Given the description of an element on the screen output the (x, y) to click on. 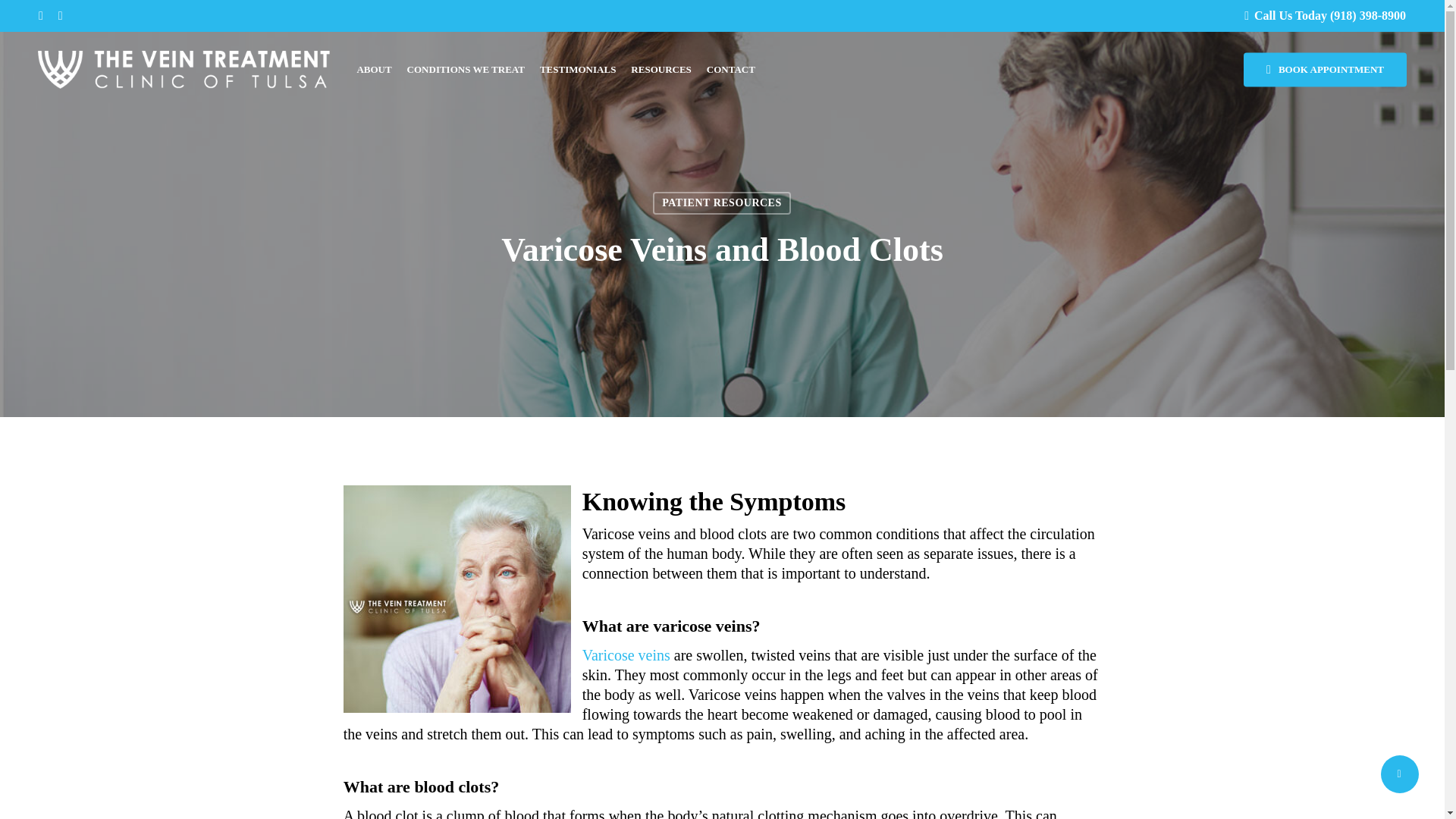
CONDITIONS WE TREAT (465, 69)
PATIENT RESOURCES (721, 202)
email (60, 16)
Varicose veins (625, 655)
facebook (41, 16)
CONTACT (730, 69)
RESOURCES (660, 69)
BOOK APPOINTMENT (1324, 69)
ABOUT (373, 69)
TESTIMONIALS (577, 69)
